Given the description of an element on the screen output the (x, y) to click on. 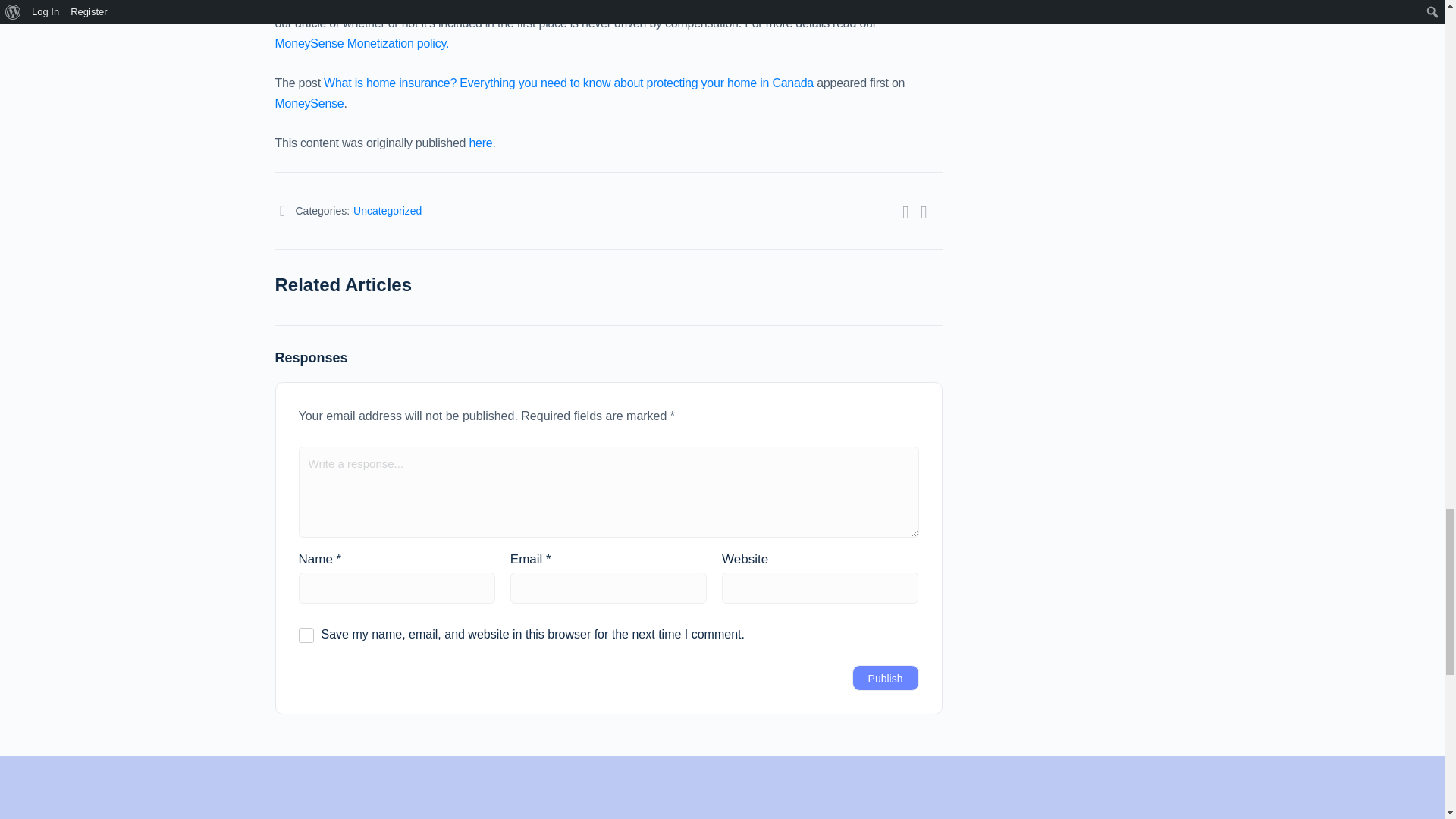
Publish (884, 678)
